Given the description of an element on the screen output the (x, y) to click on. 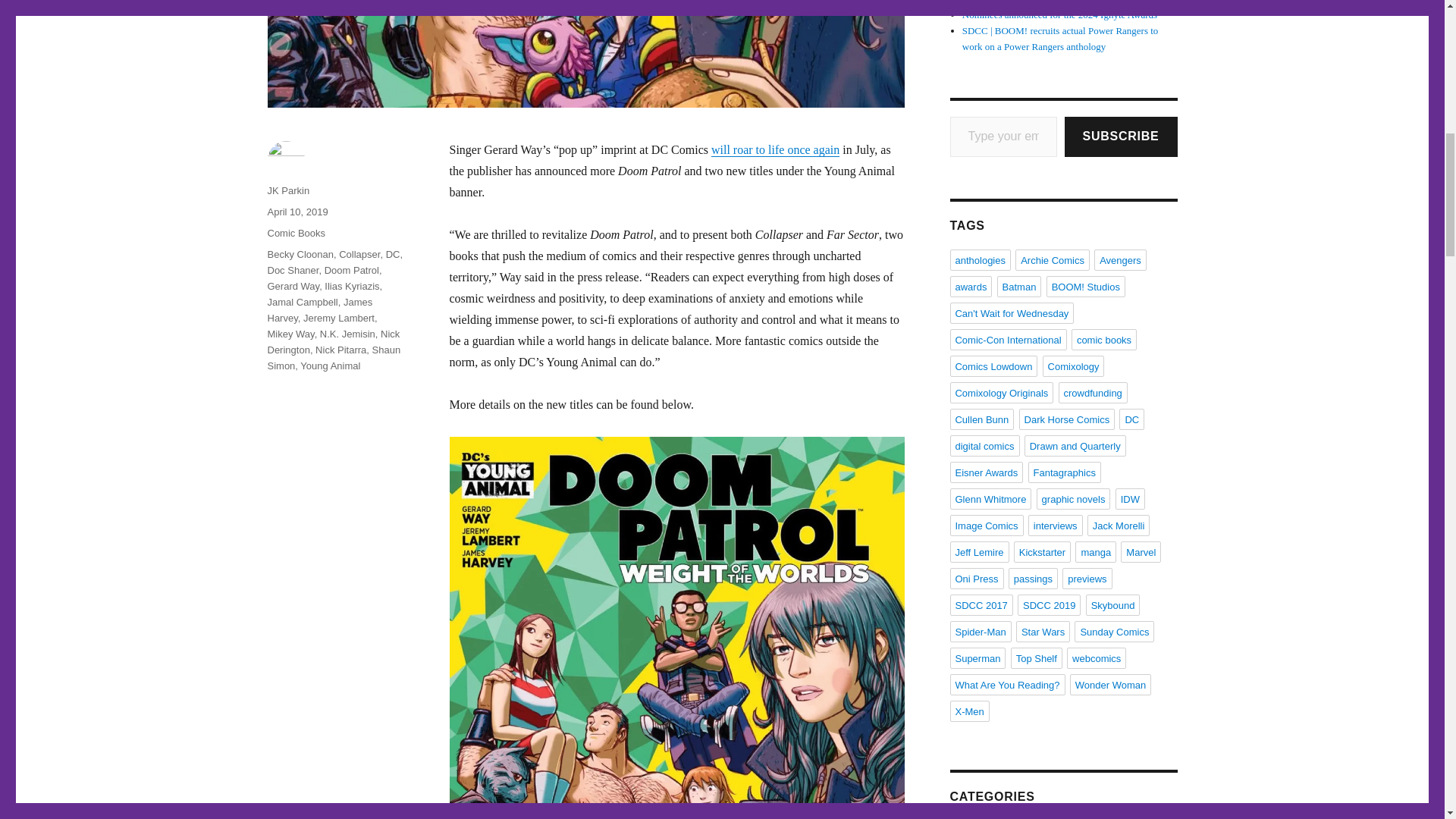
DC (392, 254)
Young Animal (329, 365)
JK Parkin (287, 190)
will roar to life once again (775, 149)
Ilias Kyriazis (351, 285)
Shaun Simon (333, 357)
Jeremy Lambert (338, 317)
Nick Pitarra (340, 349)
Comic Books (295, 233)
Gerard Way (292, 285)
Jamal Campbell (301, 301)
Mikey Way (290, 333)
Becky Cloonan (299, 254)
Doc Shaner (292, 270)
Collapser (359, 254)
